Given the description of an element on the screen output the (x, y) to click on. 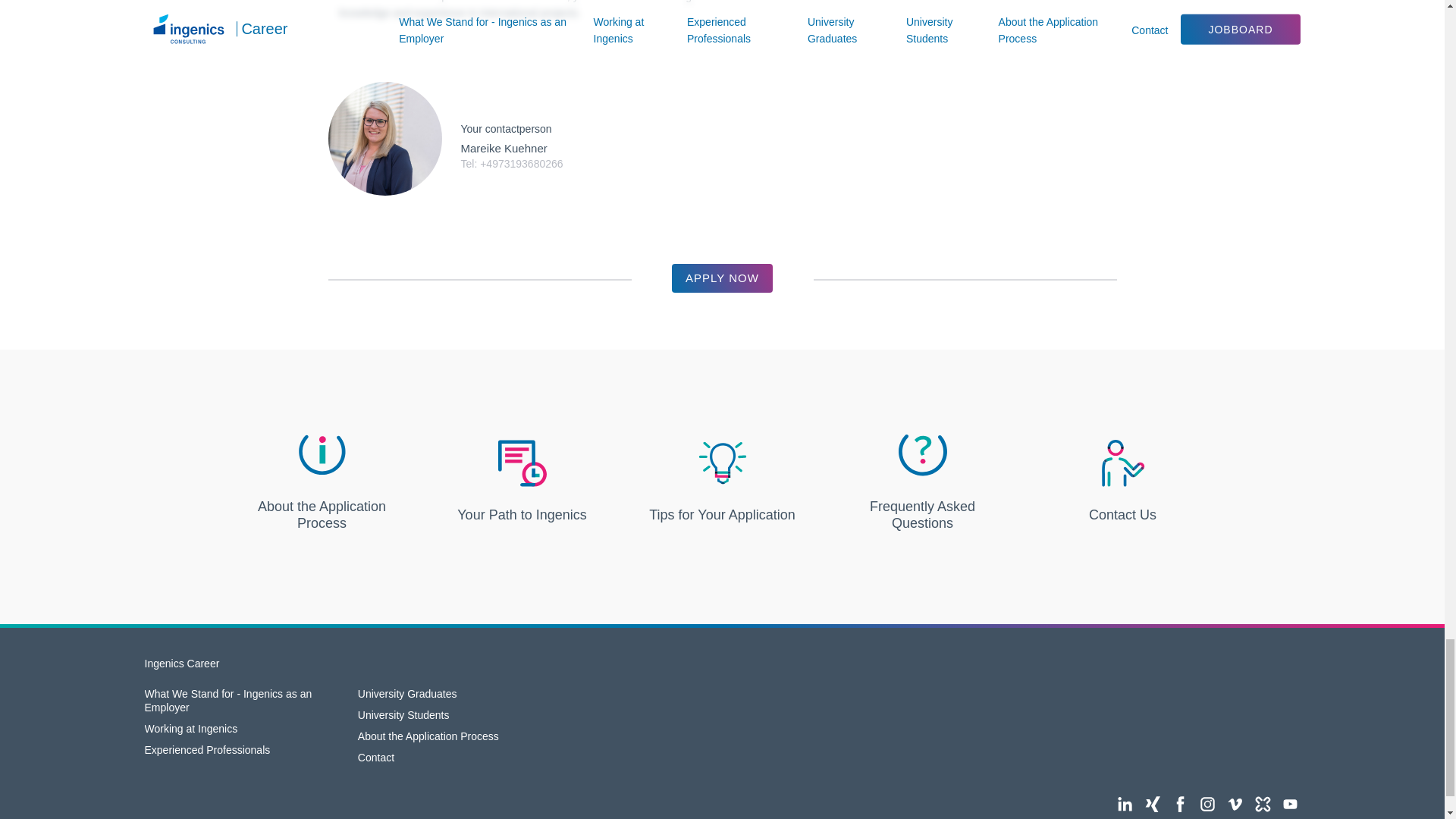
APPLY NOW (722, 277)
